Given the description of an element on the screen output the (x, y) to click on. 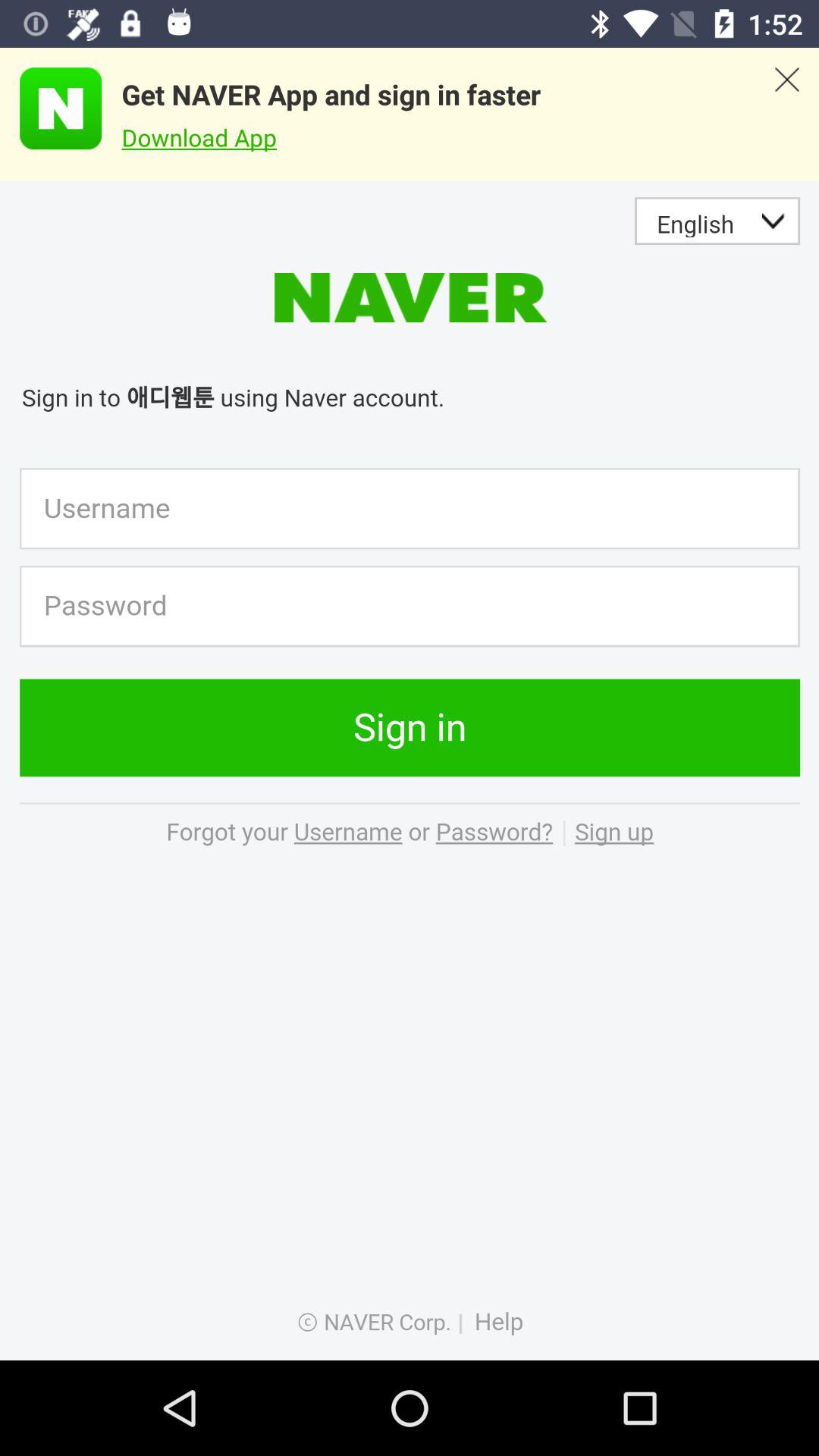
close banner notification (787, 114)
